Given the description of an element on the screen output the (x, y) to click on. 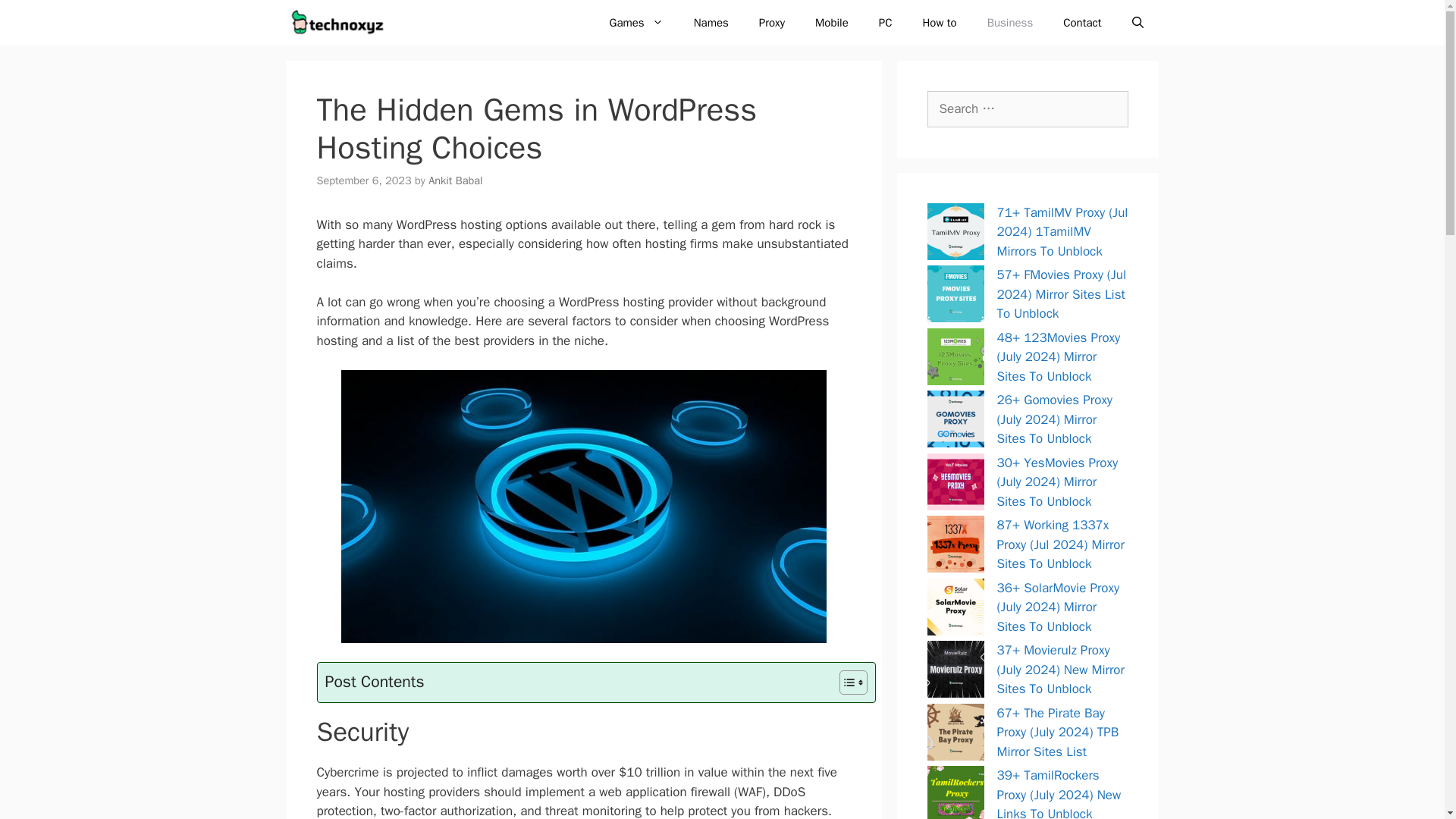
Proxy (771, 22)
Ankit Babal (454, 180)
Games (636, 22)
Technoxyz (341, 22)
Names (711, 22)
View all posts by Ankit Babal (454, 180)
Contact (1082, 22)
Search (33, 17)
PC (885, 22)
Business (1010, 22)
Mobile (831, 22)
How to (939, 22)
Technoxyz (338, 22)
